Given the description of an element on the screen output the (x, y) to click on. 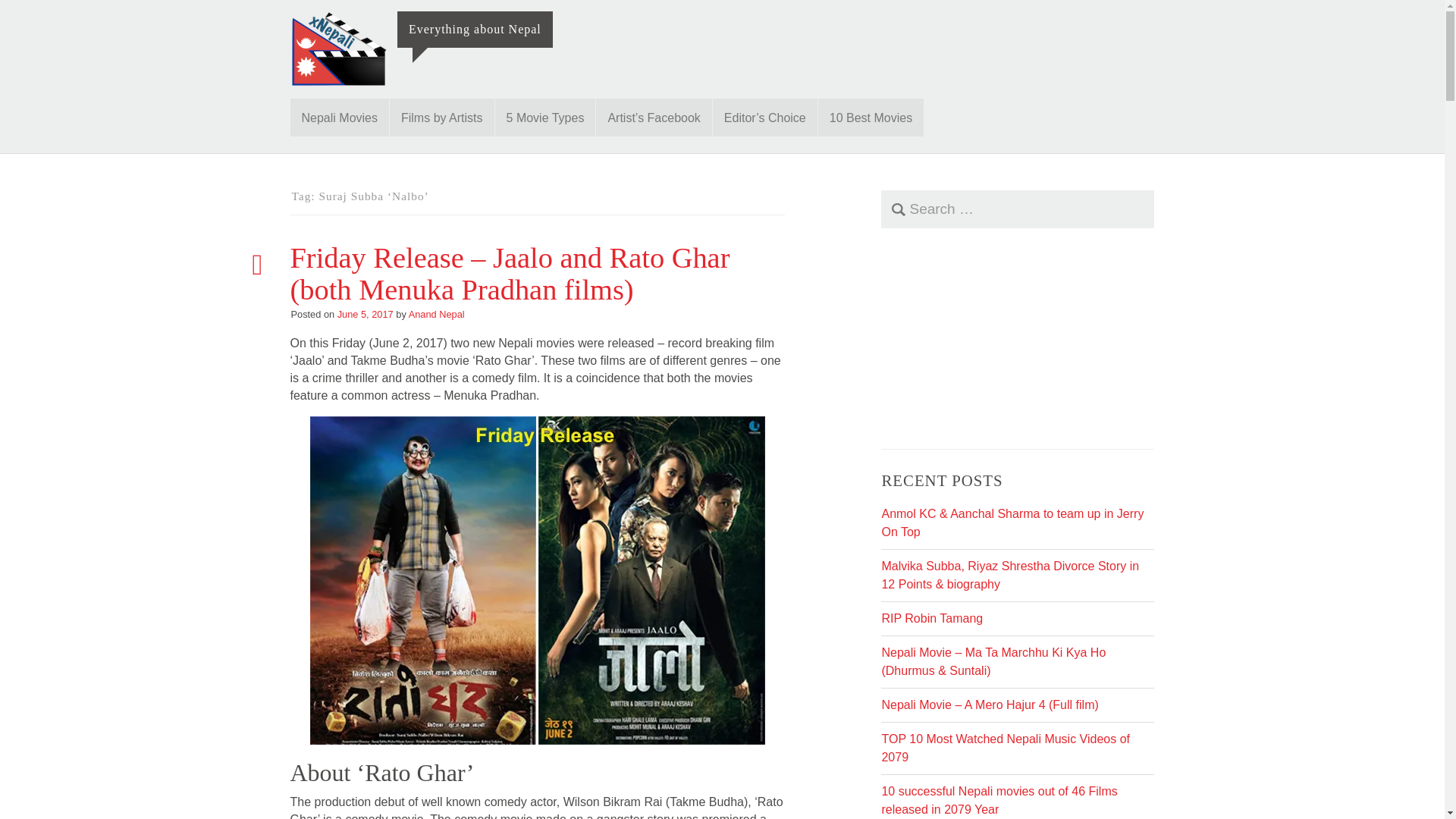
Nepali Movies (338, 117)
Editor's Choice (764, 117)
5 Movie Types (545, 117)
Films by Artists (442, 117)
Nepali Movies (338, 117)
Anand Nepal (436, 314)
10 Best Movies (870, 117)
Films by Artists (442, 117)
June 5, 2017 (365, 314)
10 Best Movies (870, 117)
